Given the description of an element on the screen output the (x, y) to click on. 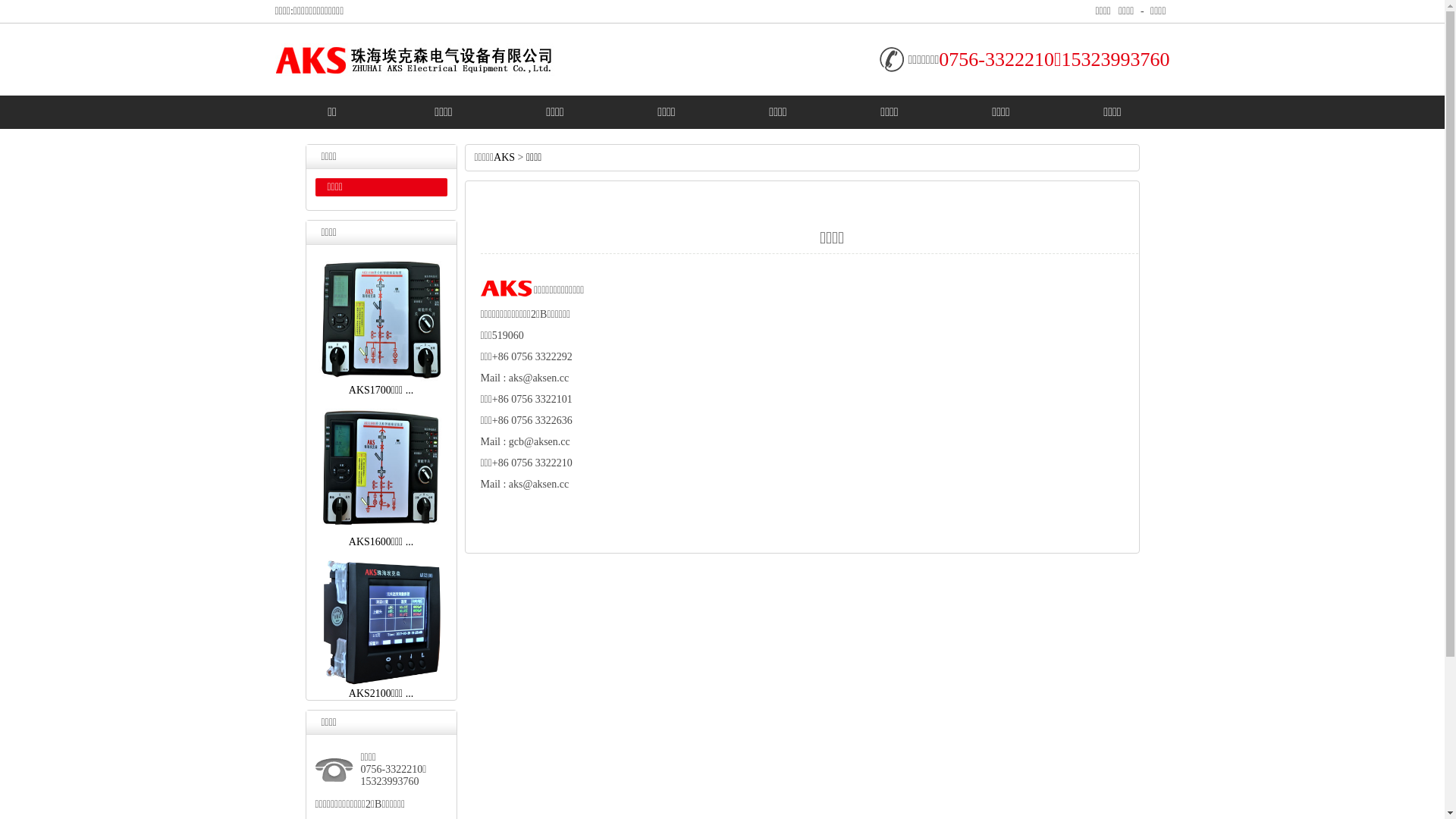
AKS Element type: text (503, 157)
